Given the description of an element on the screen output the (x, y) to click on. 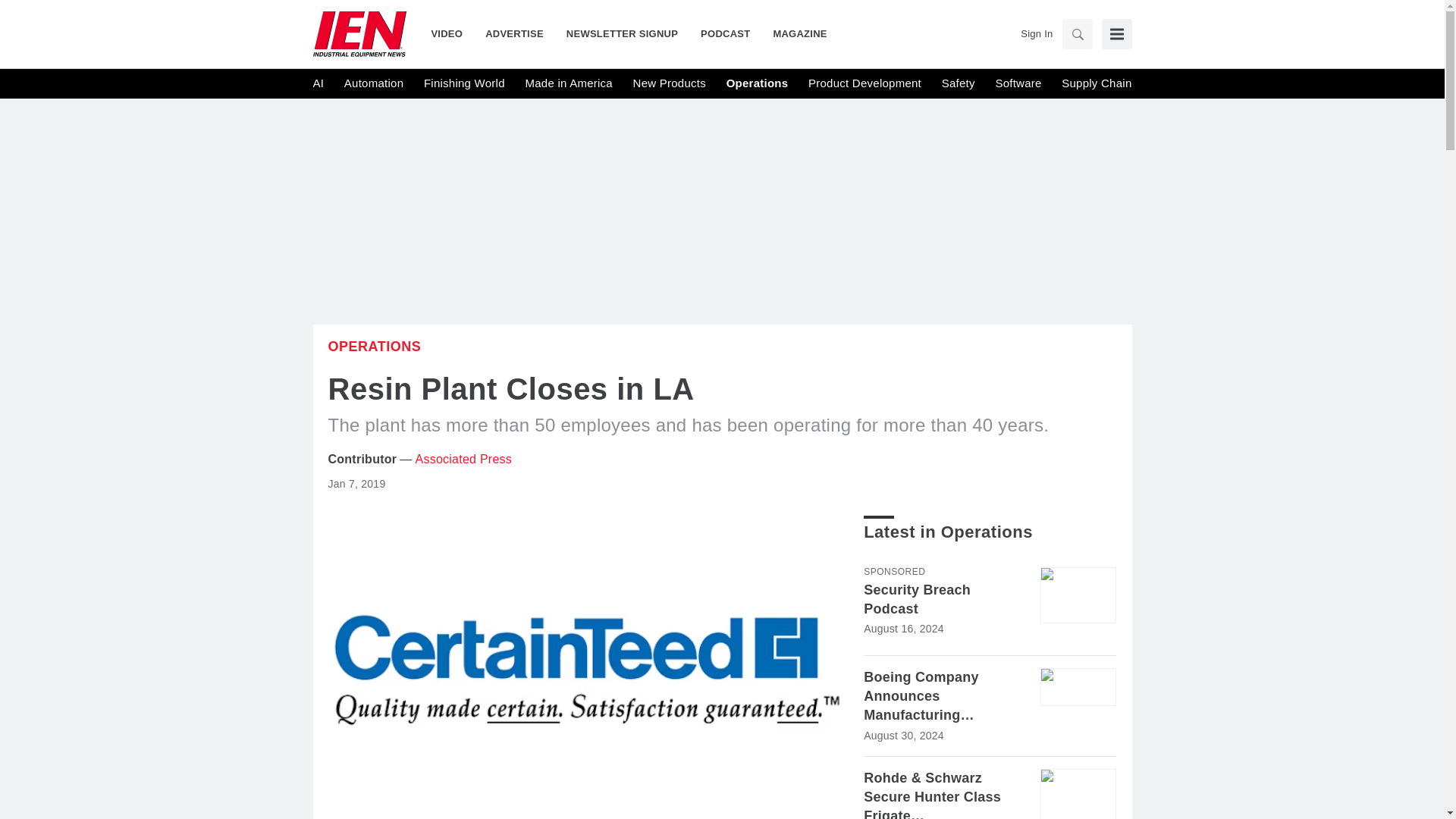
Finishing World (464, 83)
Operations (757, 83)
NEWSLETTER SIGNUP (621, 33)
Sign In (1036, 33)
Operations (373, 346)
PODCAST (724, 33)
Sponsored (893, 571)
Automation (373, 83)
New Products (669, 83)
Safety (958, 83)
